Given the description of an element on the screen output the (x, y) to click on. 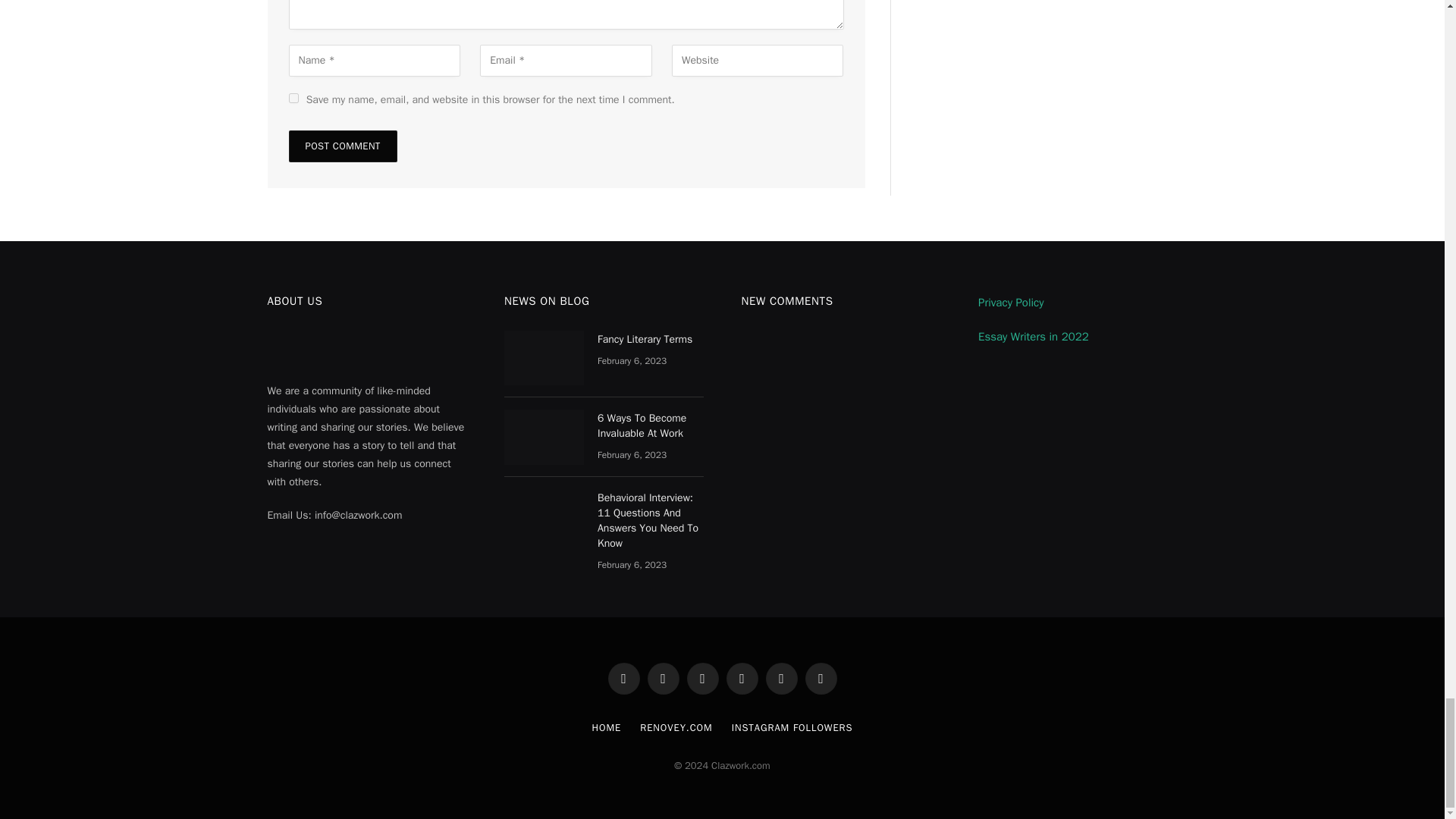
Post Comment (342, 146)
yes (293, 98)
